Given the description of an element on the screen output the (x, y) to click on. 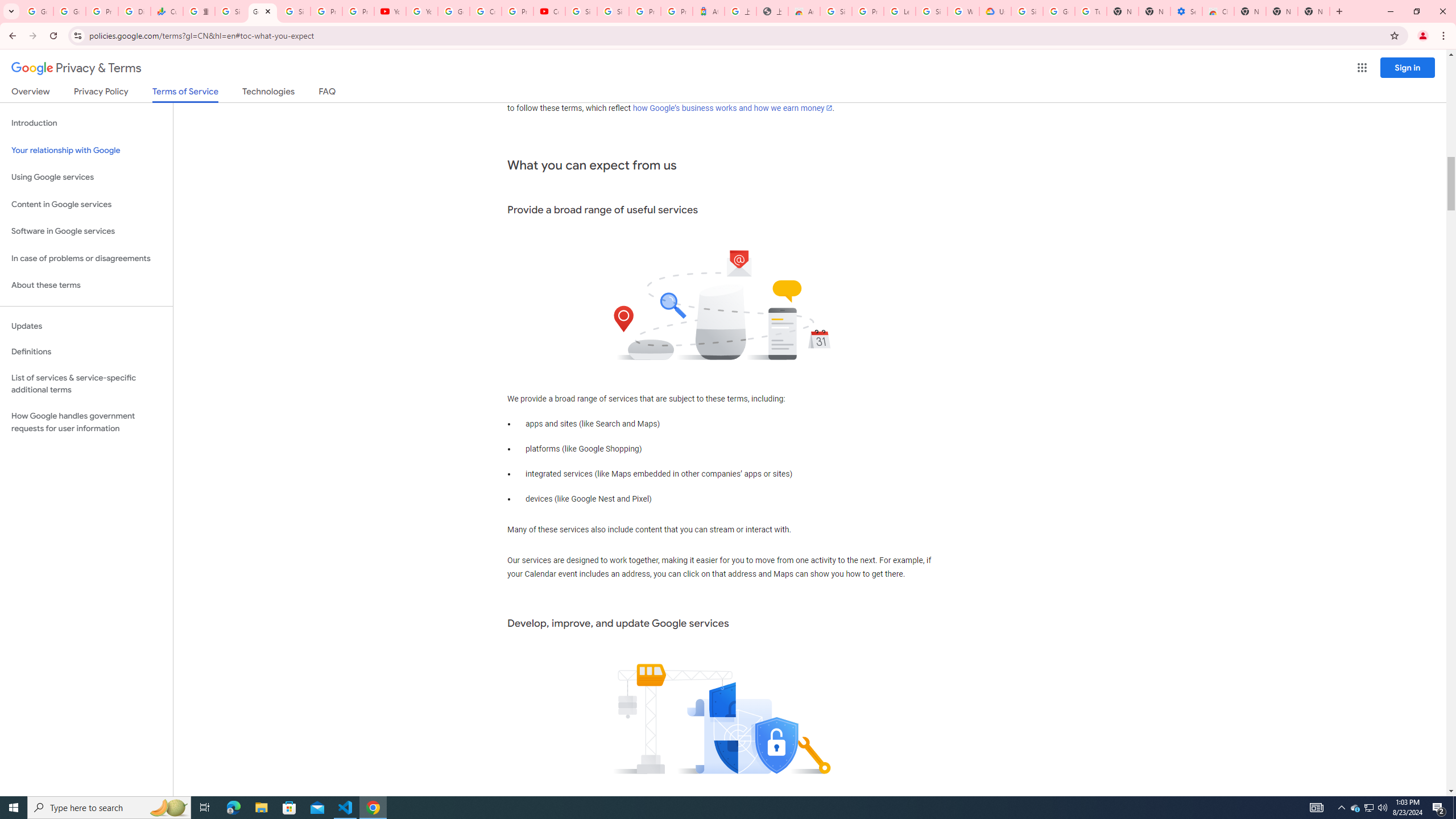
Sign in - Google Accounts (294, 11)
Privacy Checkup (358, 11)
Sign in - Google Accounts (581, 11)
About these terms (86, 284)
Back (10, 35)
Turn cookies on or off - Computer - Google Account Help (1091, 11)
List of services & service-specific additional terms (86, 383)
Technologies (268, 93)
Introduction (86, 122)
New Tab (1313, 11)
